Given the description of an element on the screen output the (x, y) to click on. 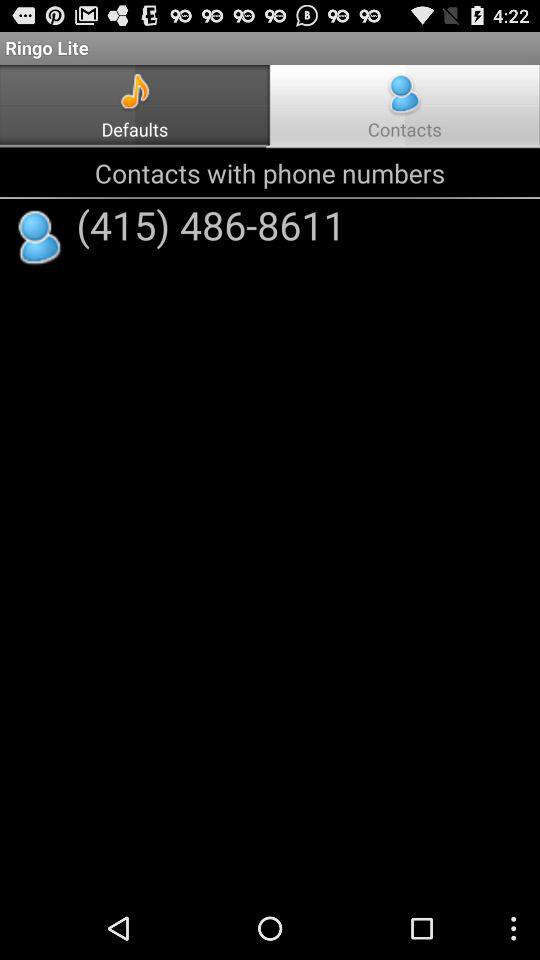
jump to (415) 486-8611 icon (210, 224)
